Given the description of an element on the screen output the (x, y) to click on. 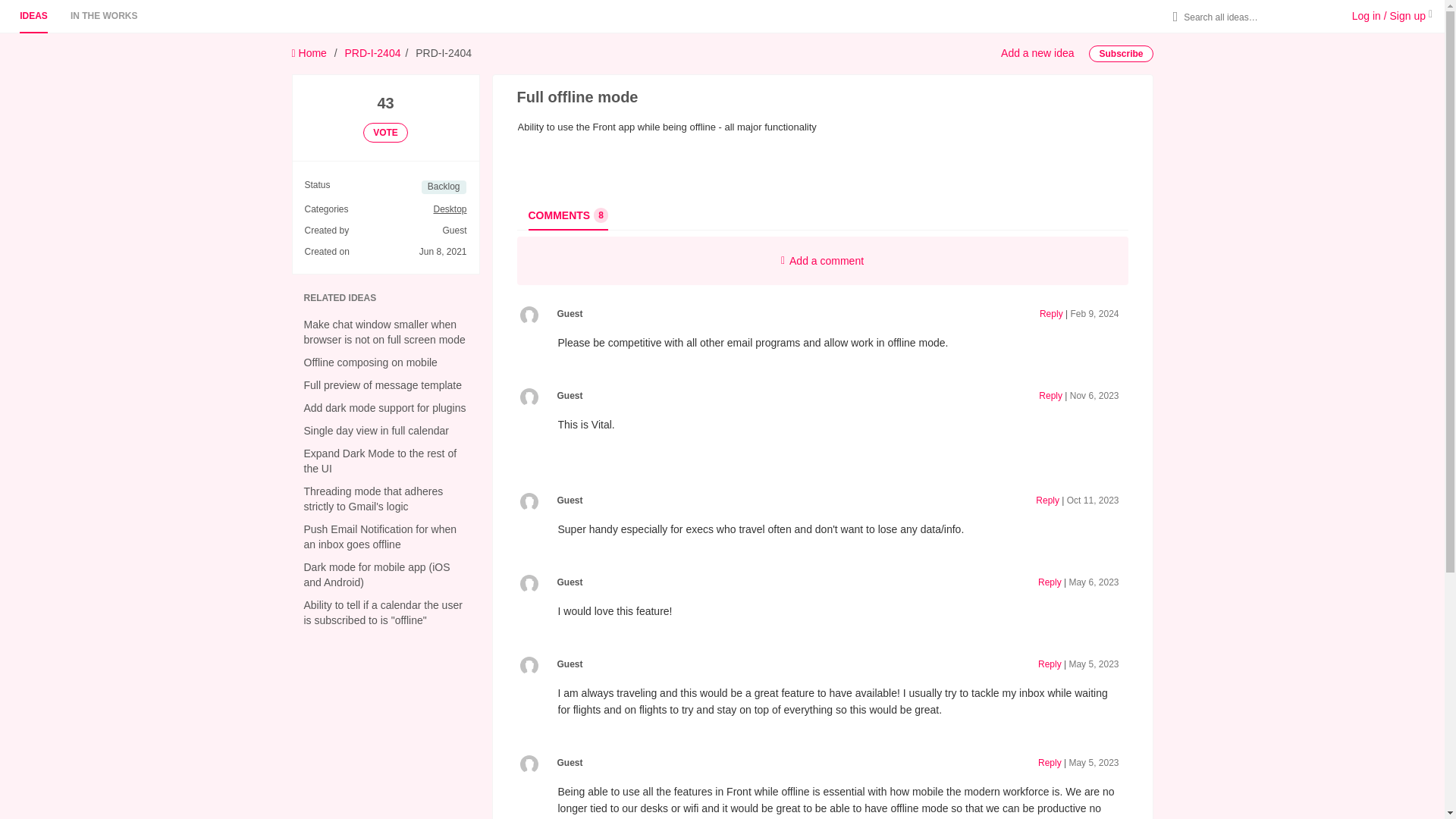
Threading mode that adheres strictly to Gmail's logic (372, 498)
Backlog (443, 187)
Reply (1050, 395)
Reply (1047, 500)
Subscribe (1121, 53)
Reply (1050, 313)
Reply (1049, 664)
Reply (1049, 582)
IN THE WORKS (567, 215)
Expand Dark Mode to the rest of the UI (103, 15)
Offline composing on mobile (379, 461)
Add dark mode support for plugins (369, 362)
